Given the description of an element on the screen output the (x, y) to click on. 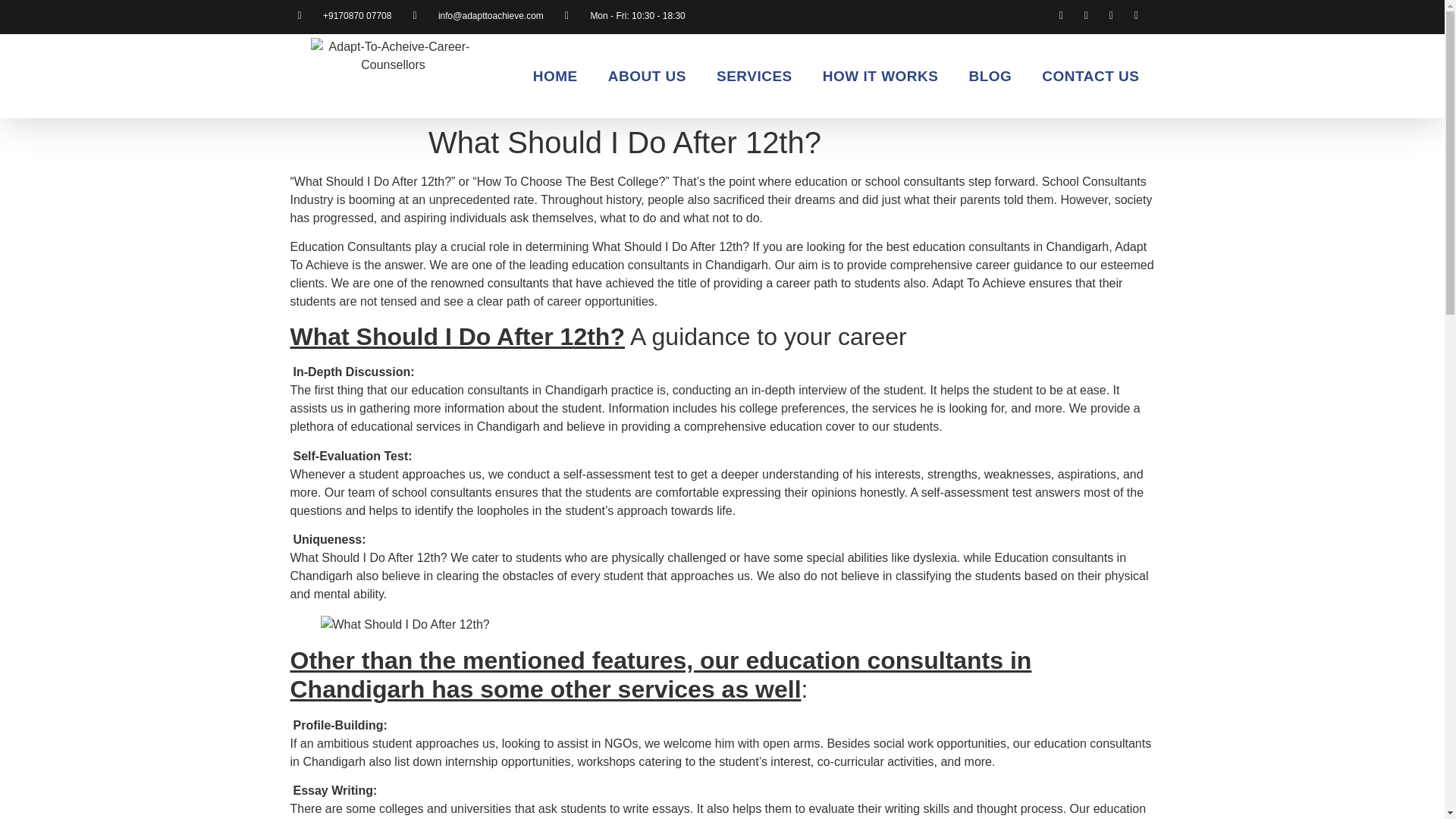
CONTACT US (1090, 75)
BLOG (989, 75)
ABOUT US (646, 75)
HOW IT WORKS (880, 75)
HOME (555, 75)
SERVICES (754, 75)
